Given the description of an element on the screen output the (x, y) to click on. 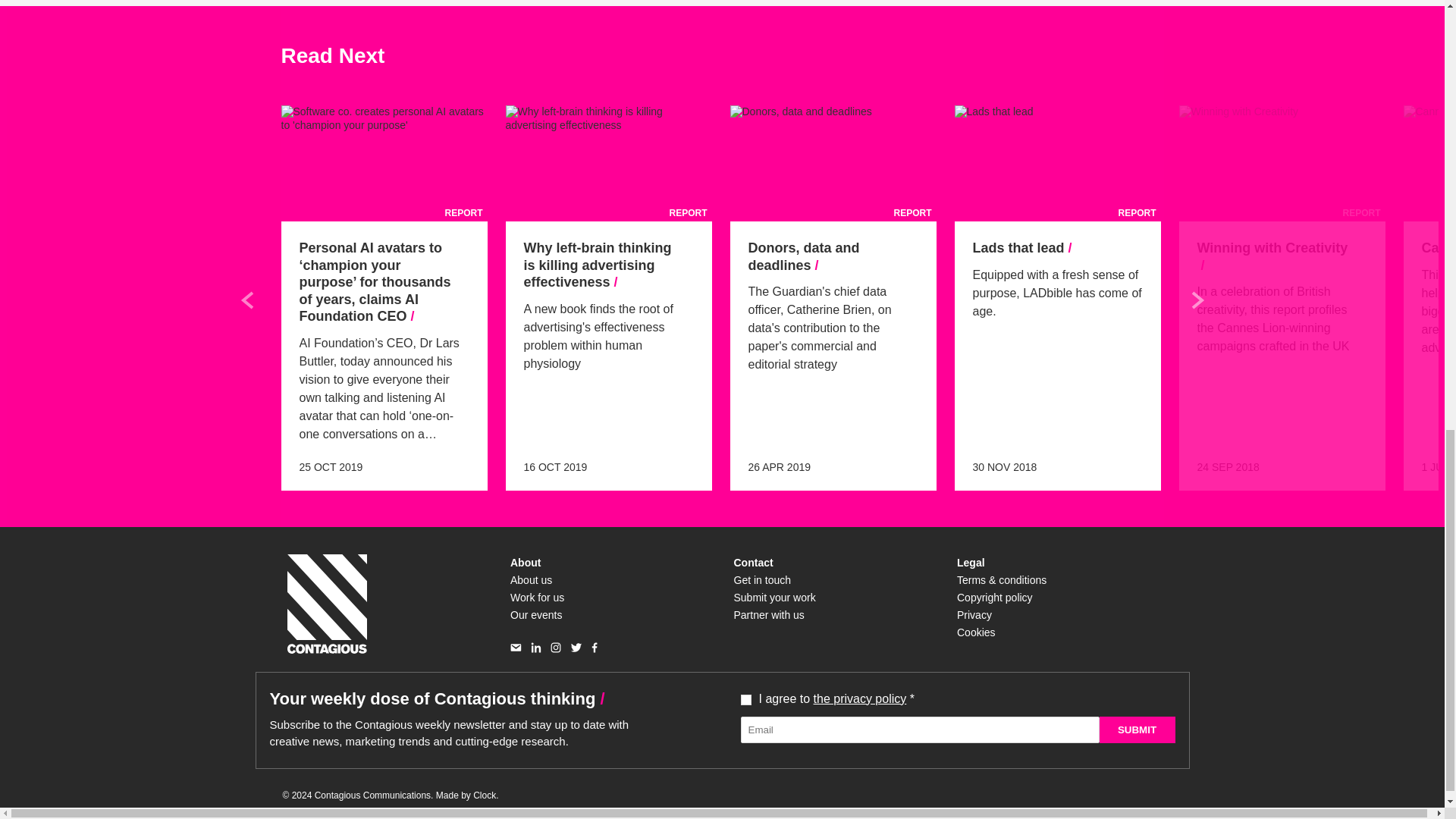
REPORT (1056, 163)
REPORT (832, 163)
REPORT (383, 163)
REPORT (608, 163)
REPORT (1280, 163)
